Given the description of an element on the screen output the (x, y) to click on. 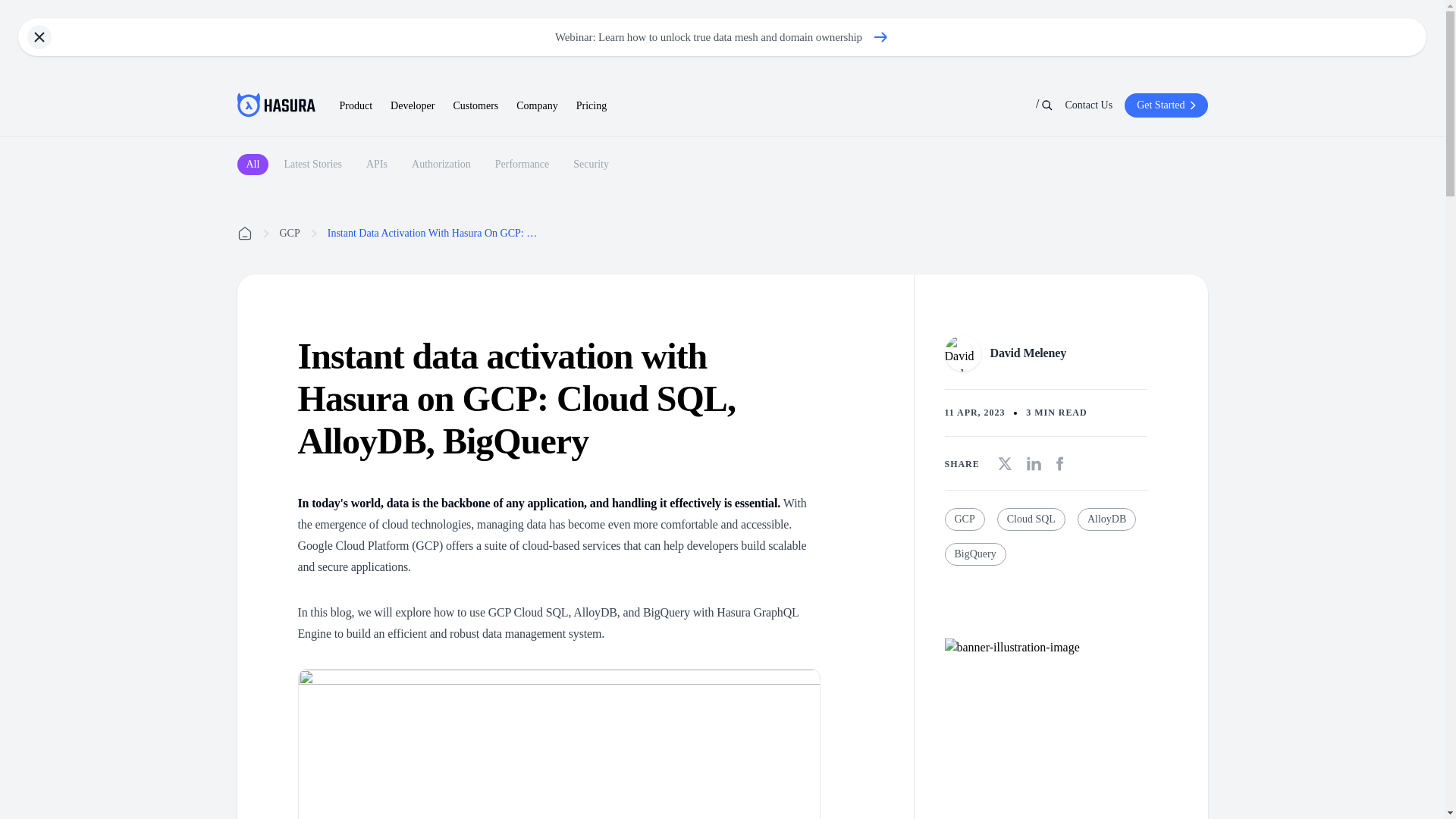
Home (243, 233)
GCP (964, 518)
Customers (474, 105)
David Meleney (1045, 352)
BigQuery (975, 553)
Pricing (591, 105)
Read the guide (1001, 687)
APIs (376, 164)
Contact Us (1089, 104)
Get Started (1165, 104)
Latest Stories (312, 164)
AlloyDB (1106, 518)
GCP (289, 233)
All (251, 164)
